Given the description of an element on the screen output the (x, y) to click on. 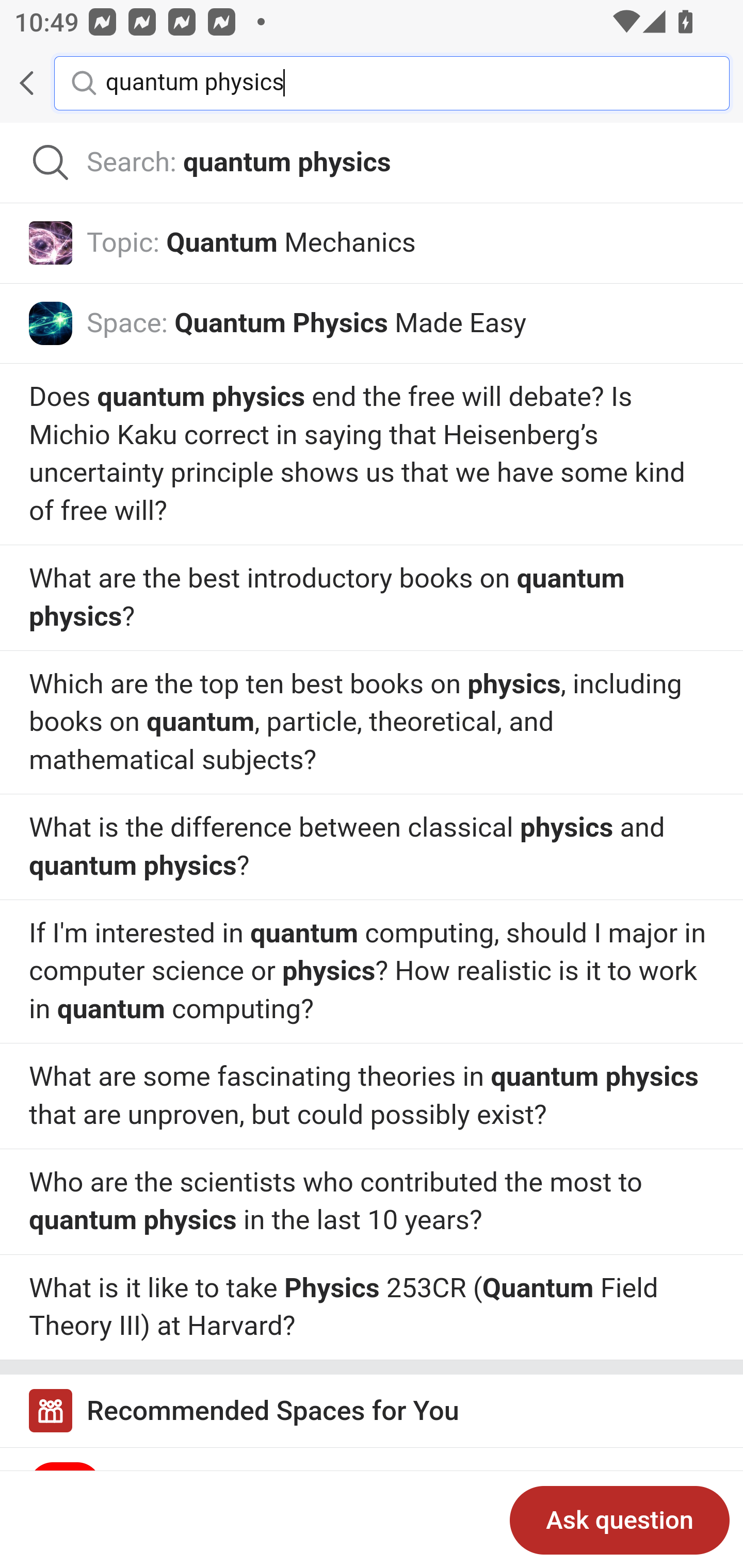
Me Home Search Add (371, 82)
quantum physics (402, 82)
Search: qut (371, 162)
Icon for Quantum Mechanics (50, 241)
Icon for Quantum Physics Made Easy (50, 322)
What is a quantum computer? (371, 847)
